Given the description of an element on the screen output the (x, y) to click on. 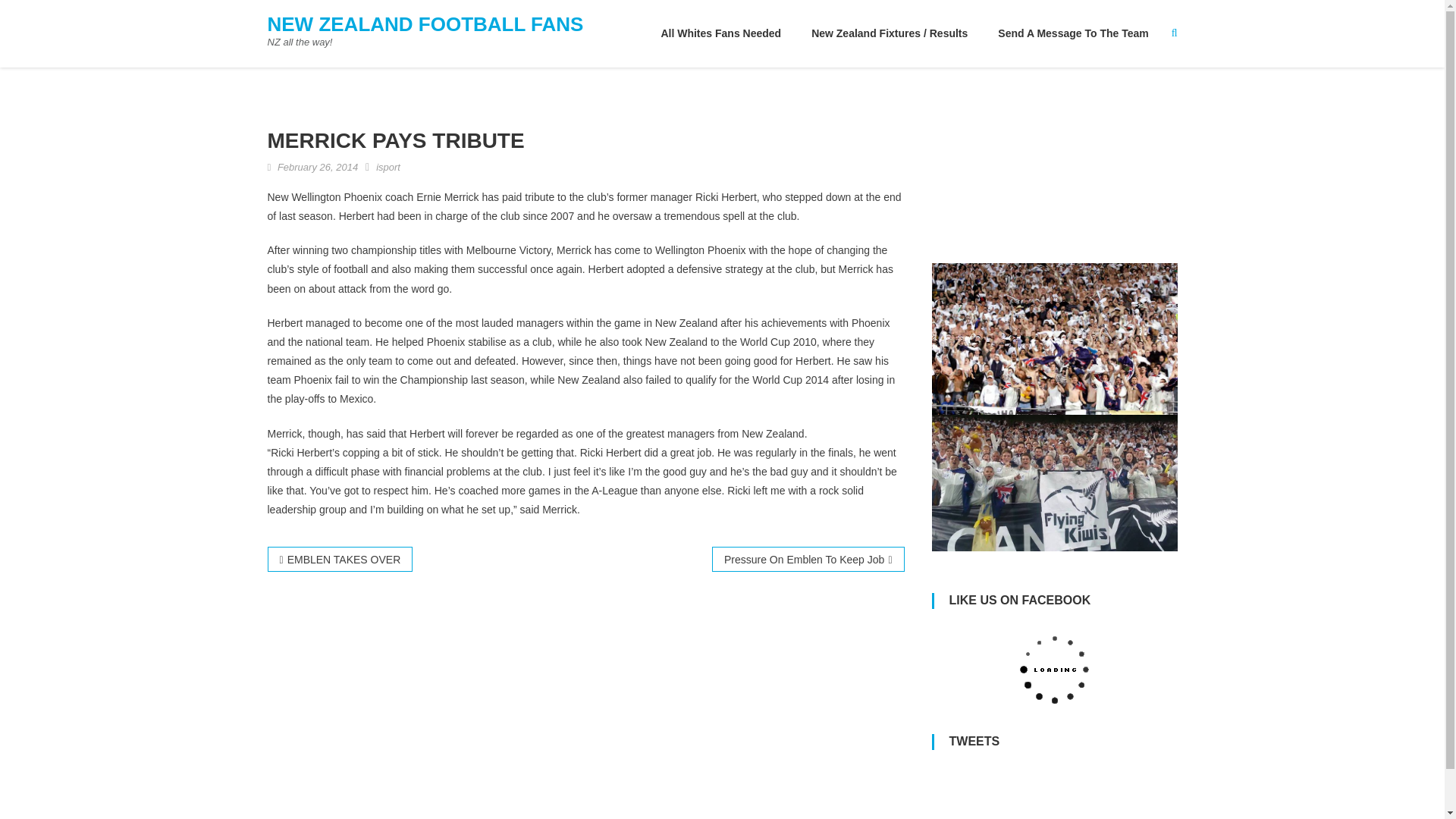
Pressure On Emblen To Keep Job (807, 559)
isport (387, 166)
Send A Message To The Team (1072, 33)
EMBLEN TAKES OVER (339, 559)
NEW ZEALAND FOOTBALL FANS (424, 24)
All Whites Fans Needed (720, 33)
February 26, 2014 (318, 166)
